Given the description of an element on the screen output the (x, y) to click on. 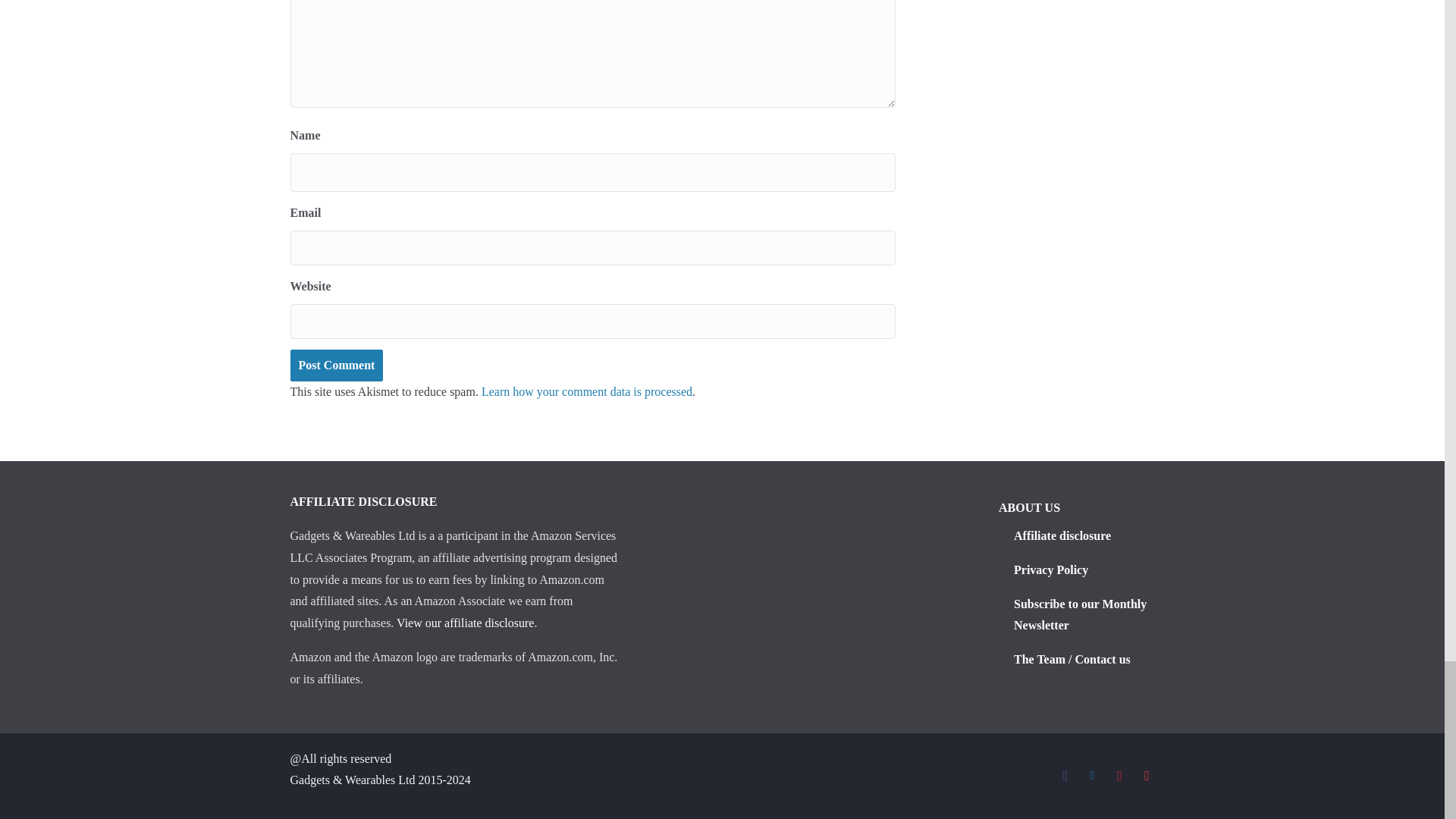
Post Comment (335, 365)
